Given the description of an element on the screen output the (x, y) to click on. 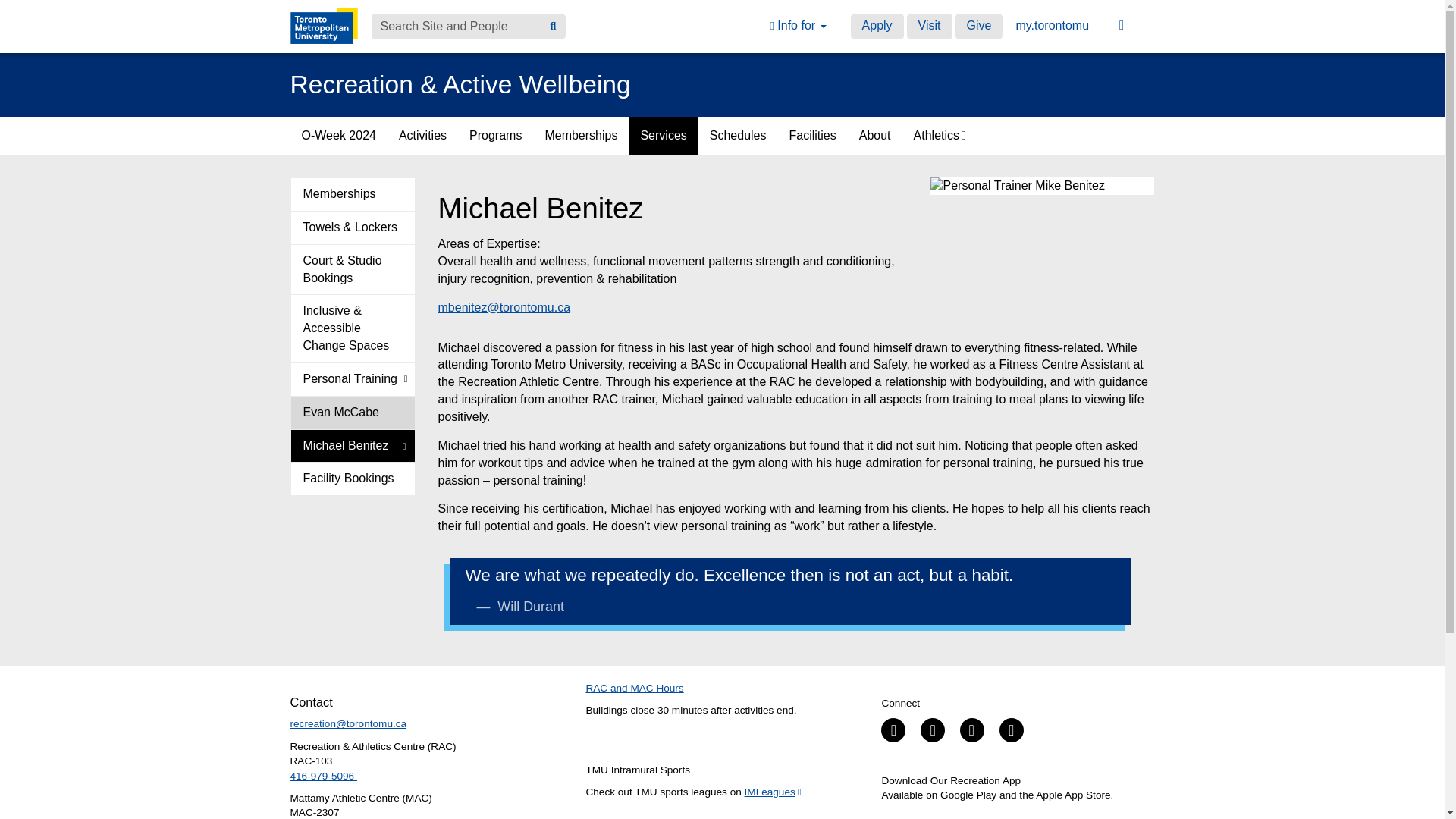
instagram (1010, 730)
Apply (877, 26)
facebook (892, 730)
Give (979, 26)
twitter (932, 730)
Personal Trainer Mike Benitez (1042, 185)
Visit (929, 26)
Toronto Metropolitan University (322, 25)
my.torontomu (1052, 26)
youtube (971, 730)
